Given the description of an element on the screen output the (x, y) to click on. 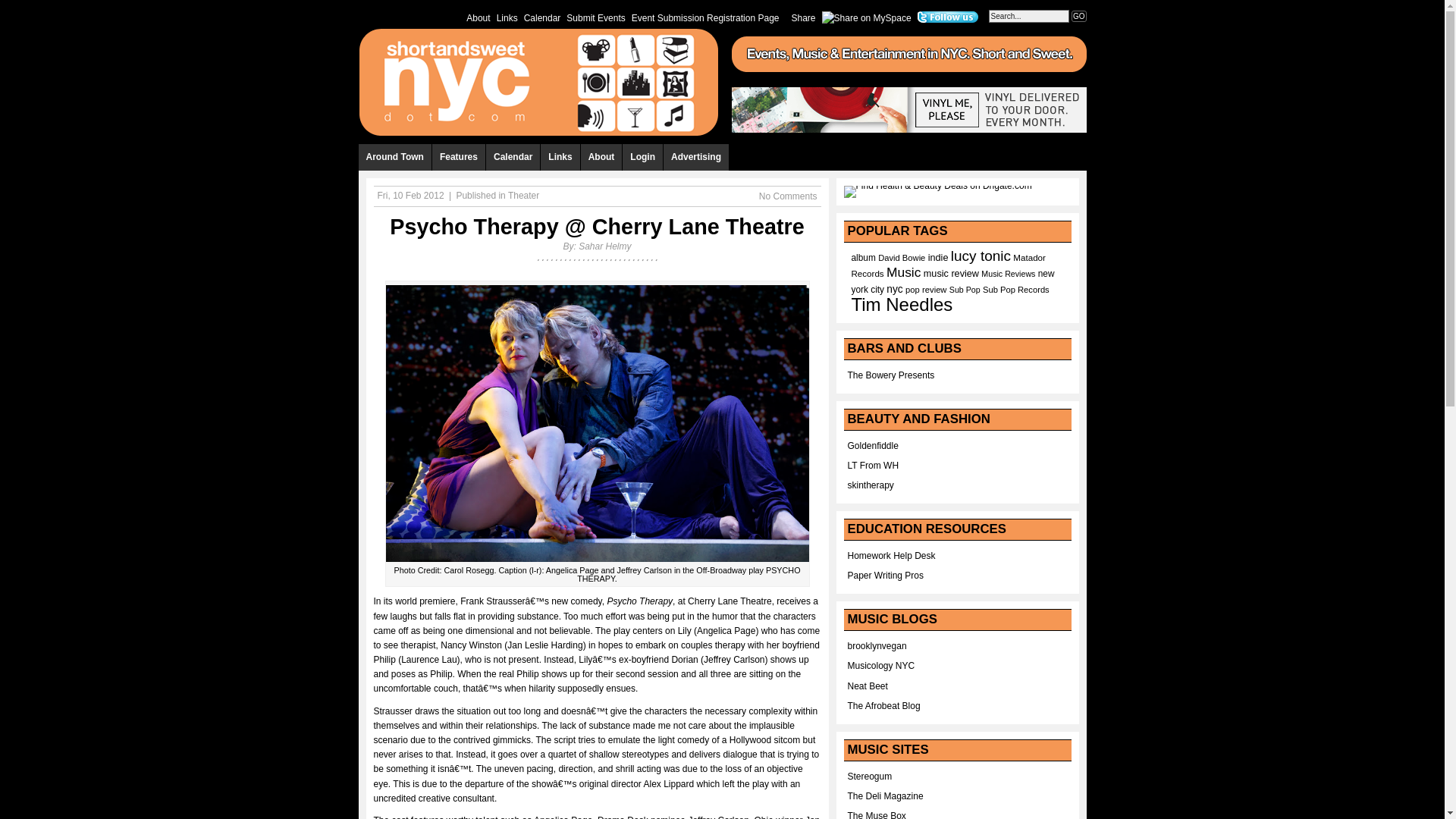
Links (559, 157)
Submit Events (595, 17)
Around Town (394, 157)
GO (1078, 16)
Links (507, 17)
Search... (1028, 15)
GO (1078, 16)
About (478, 17)
twitter-icon.com (947, 17)
View all articles by Sahar Helmy (604, 245)
